Given the description of an element on the screen output the (x, y) to click on. 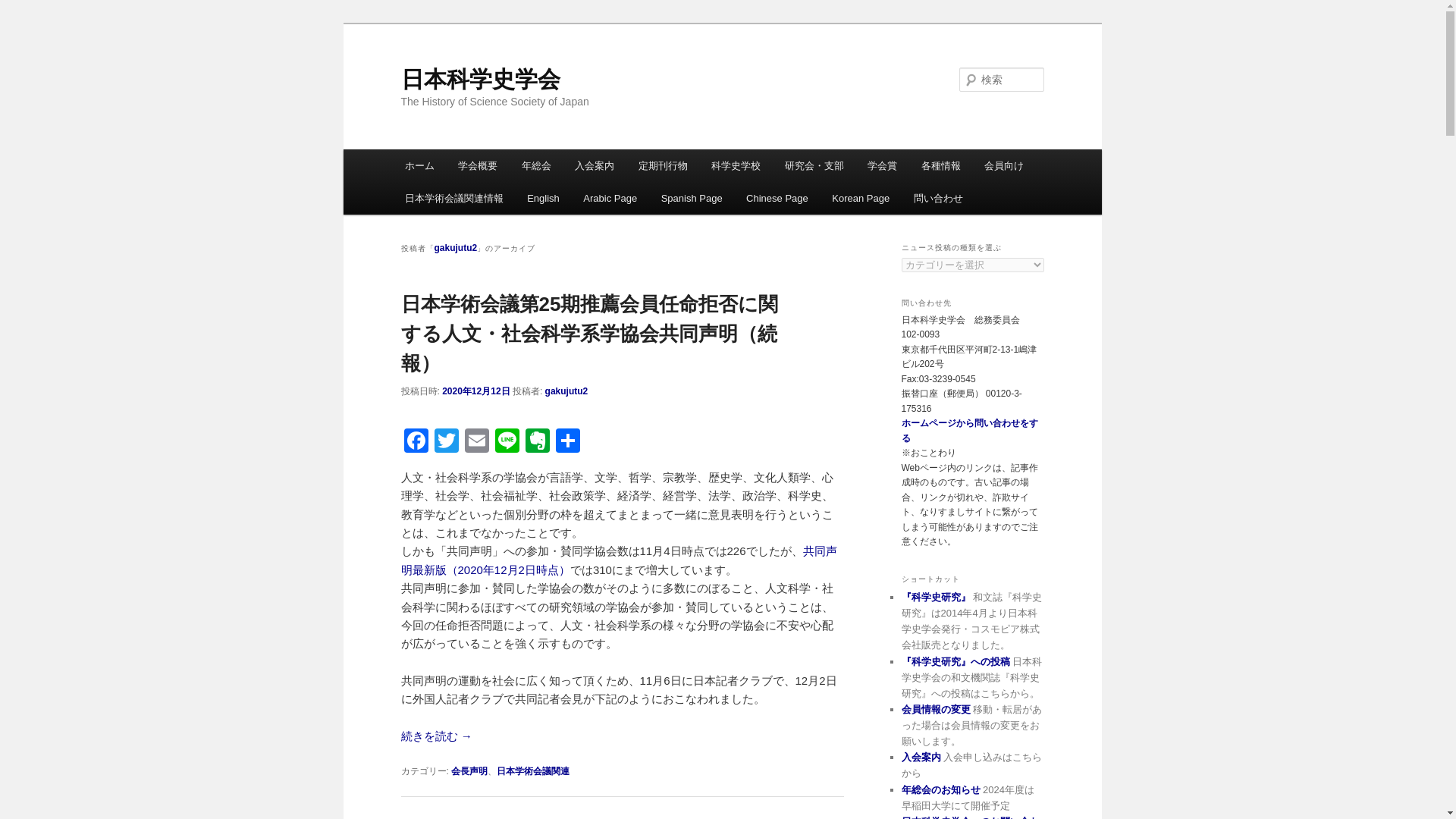
Evernote (536, 442)
Line (506, 442)
9:11 PM (475, 390)
Twitter (445, 442)
Email (476, 442)
Facebook (415, 442)
